Given the description of an element on the screen output the (x, y) to click on. 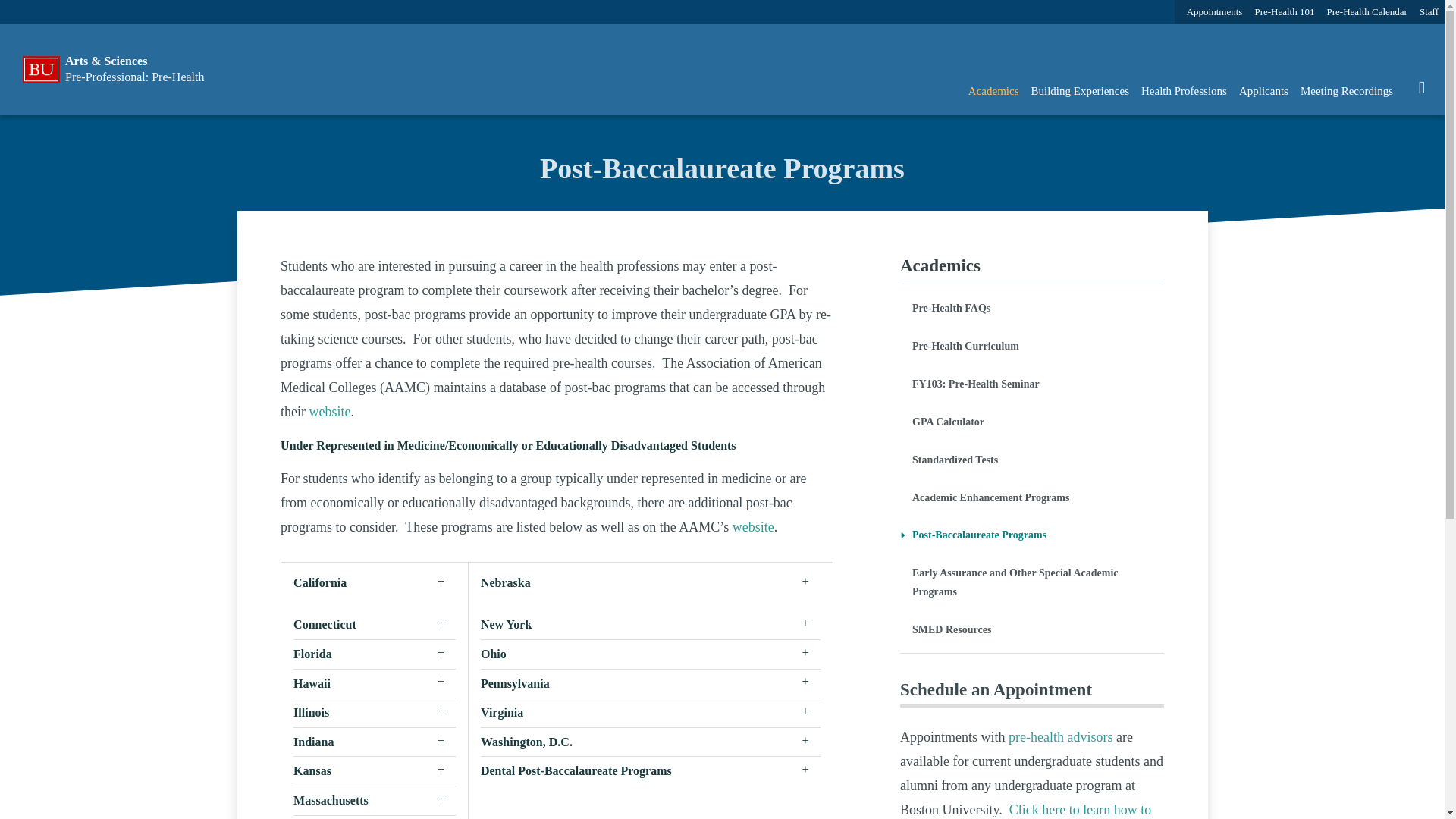
Meeting Recordings (1346, 91)
Academics (993, 91)
Navigate to: Academics (993, 91)
Building Experiences (1080, 91)
Navigate to: Health Professions (1184, 91)
Health Professions (1184, 91)
Applicants (1263, 91)
Navigate to: Building Experiences (1080, 91)
